Given the description of an element on the screen output the (x, y) to click on. 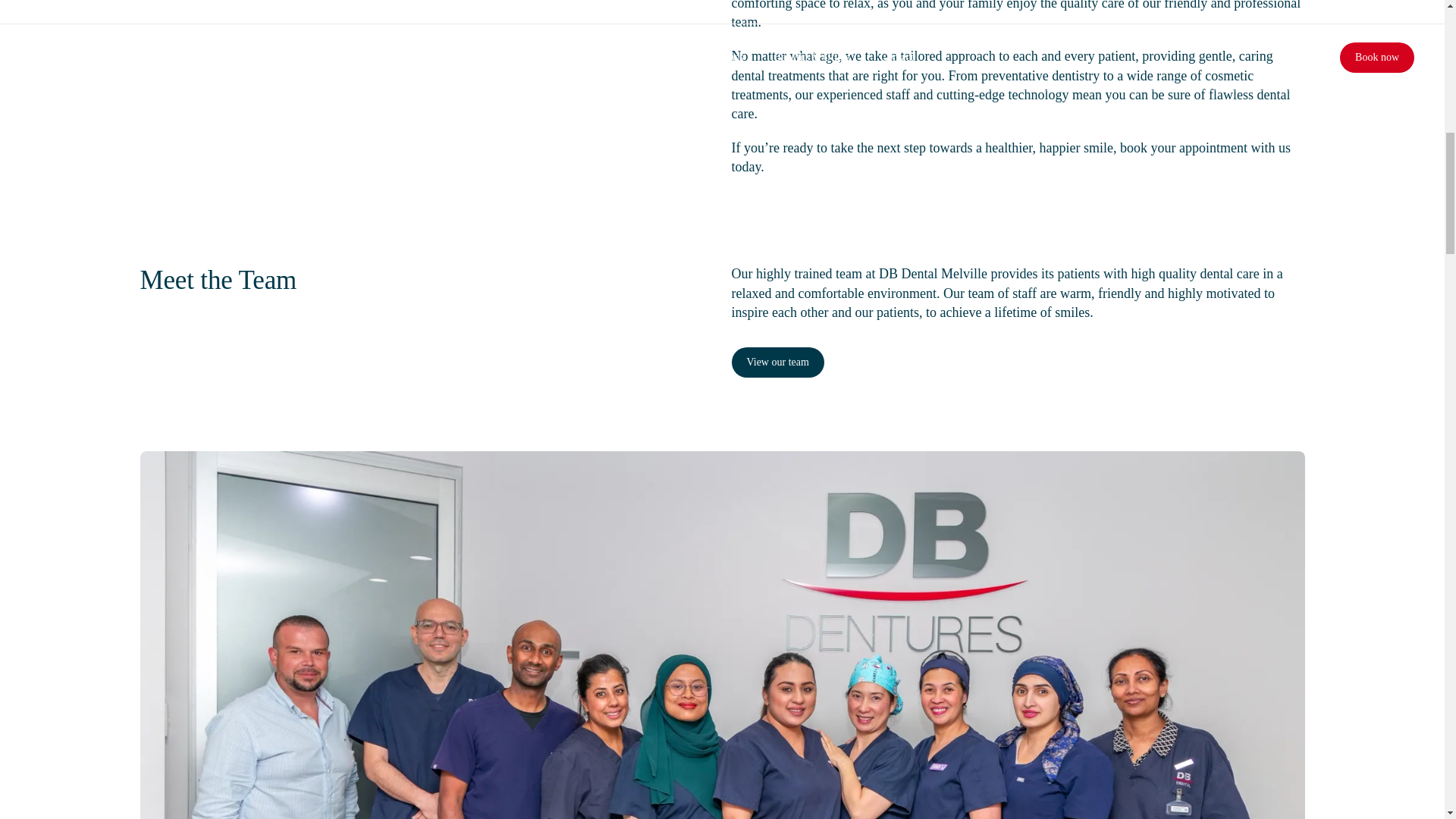
Click here for more info (775, 16)
View our team (1017, 362)
